Given the description of an element on the screen output the (x, y) to click on. 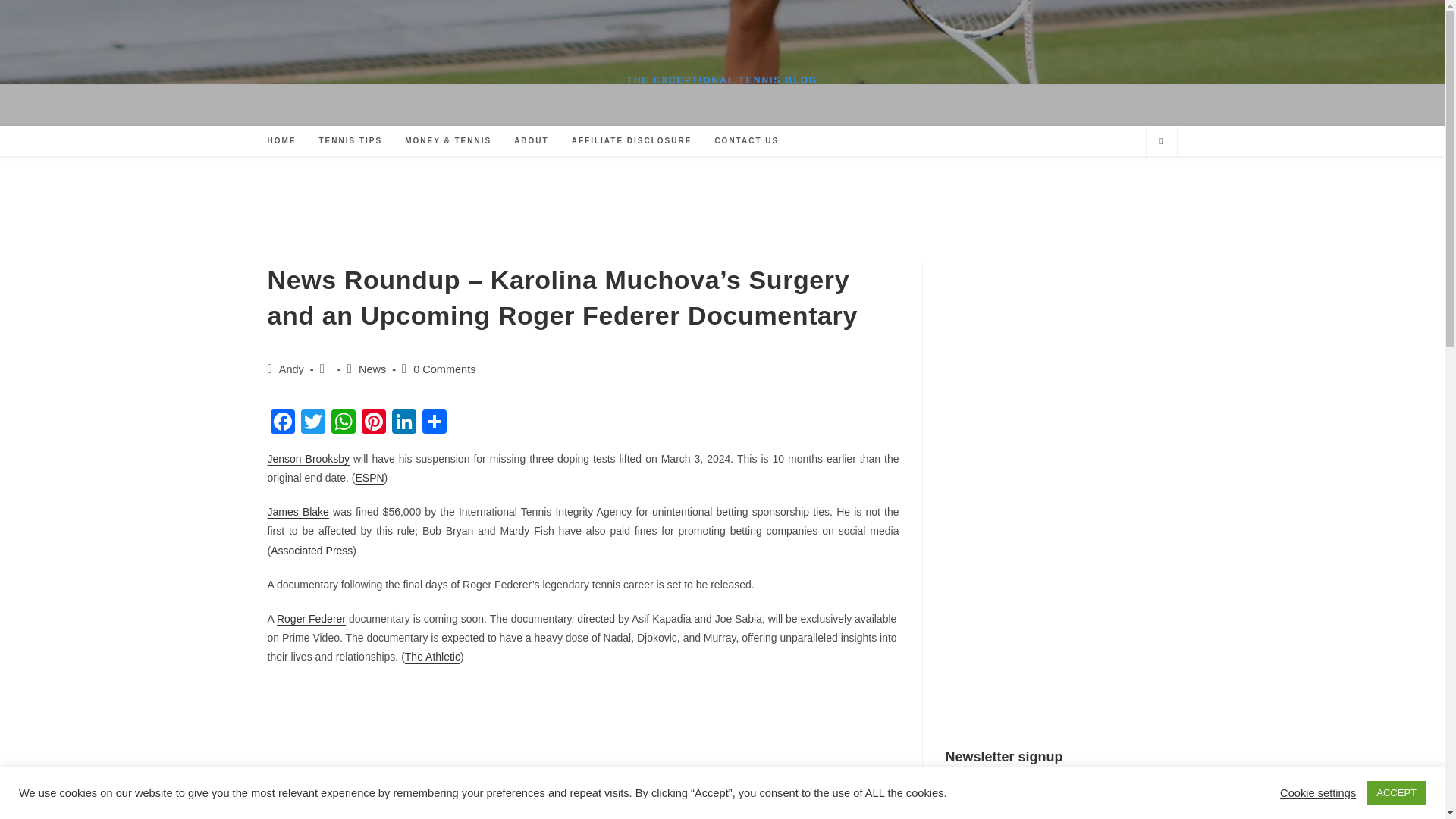
CONTACT US (746, 141)
Jenson Brooksby (307, 458)
News (371, 369)
Roger Federer (311, 618)
Facebook (281, 423)
Associated Press (311, 550)
HOME (281, 141)
The Athletic (432, 656)
Facebook (281, 423)
ESPN (369, 477)
